Given the description of an element on the screen output the (x, y) to click on. 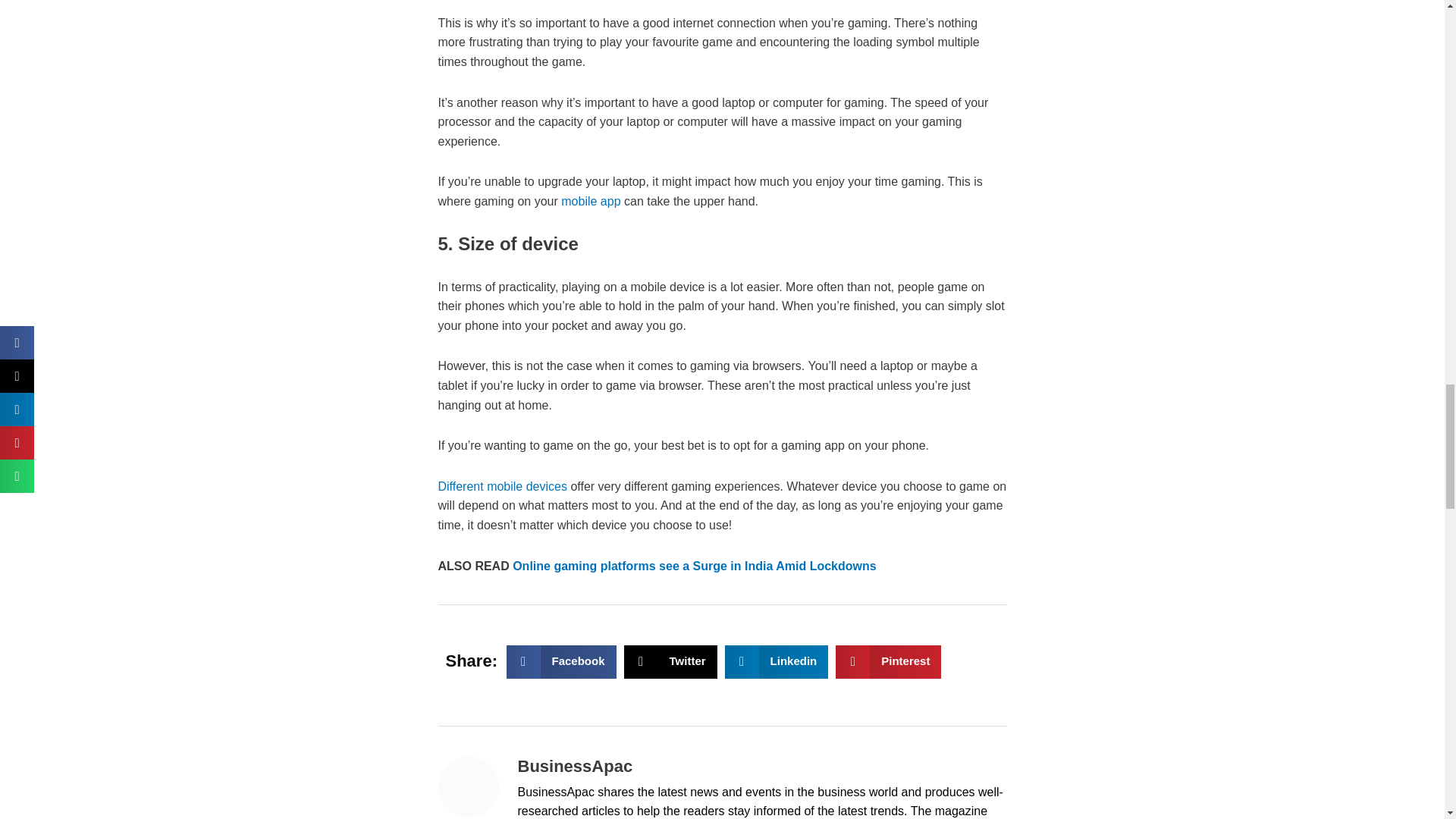
Different mobile devices (502, 486)
mobile app (670, 661)
Online gaming platforms see a Surge in India Amid Lockdowns (590, 201)
